Given the description of an element on the screen output the (x, y) to click on. 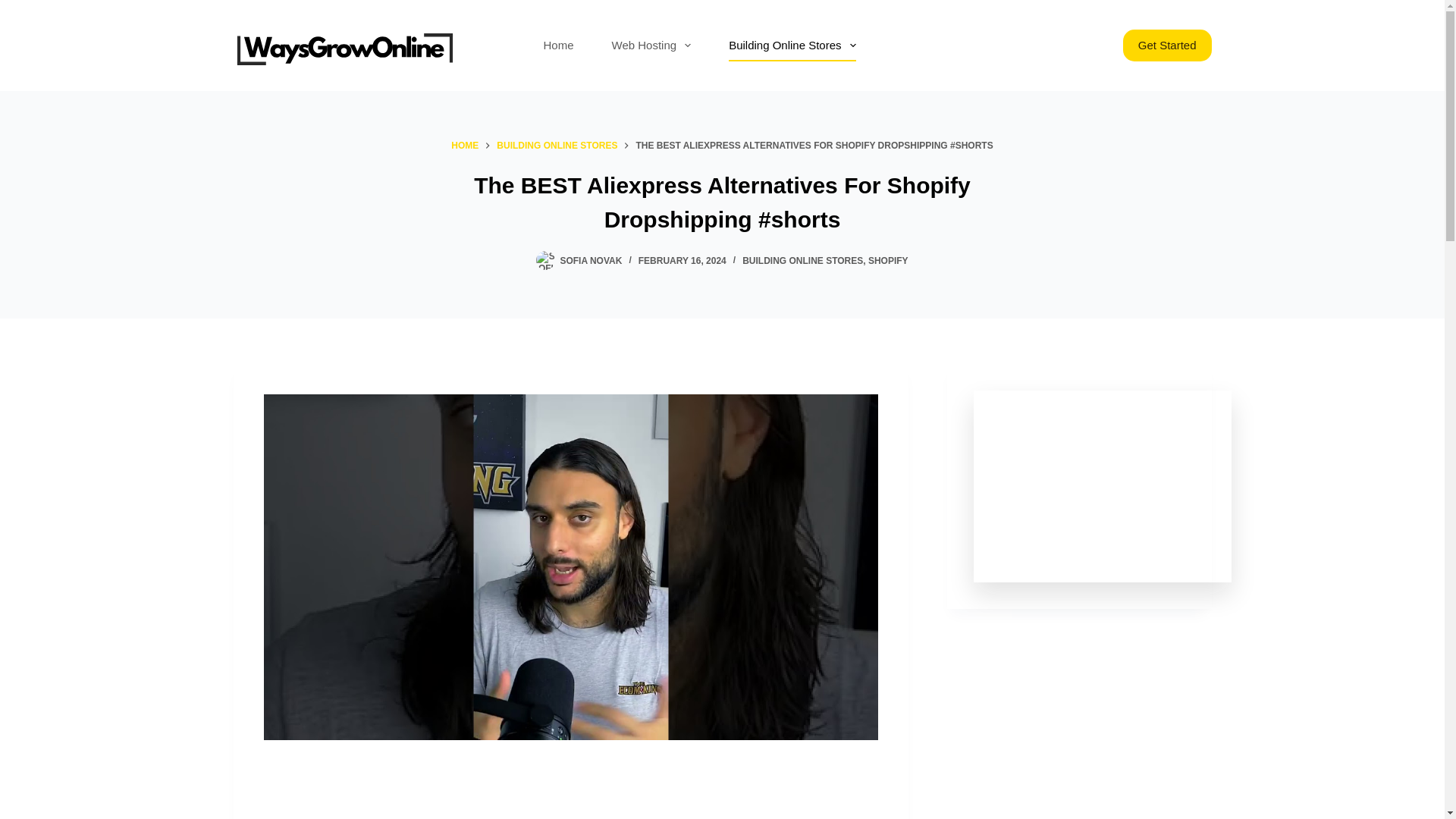
Posts by Sofia Novak (590, 260)
HOME (465, 145)
Web Hosting (651, 45)
SOFIA NOVAK (590, 260)
SHOPIFY (887, 260)
Skip to content (15, 7)
Home (558, 45)
BUILDING ONLINE STORES (802, 260)
Building Online Stores (792, 45)
Get Started (1166, 45)
